Given the description of an element on the screen output the (x, y) to click on. 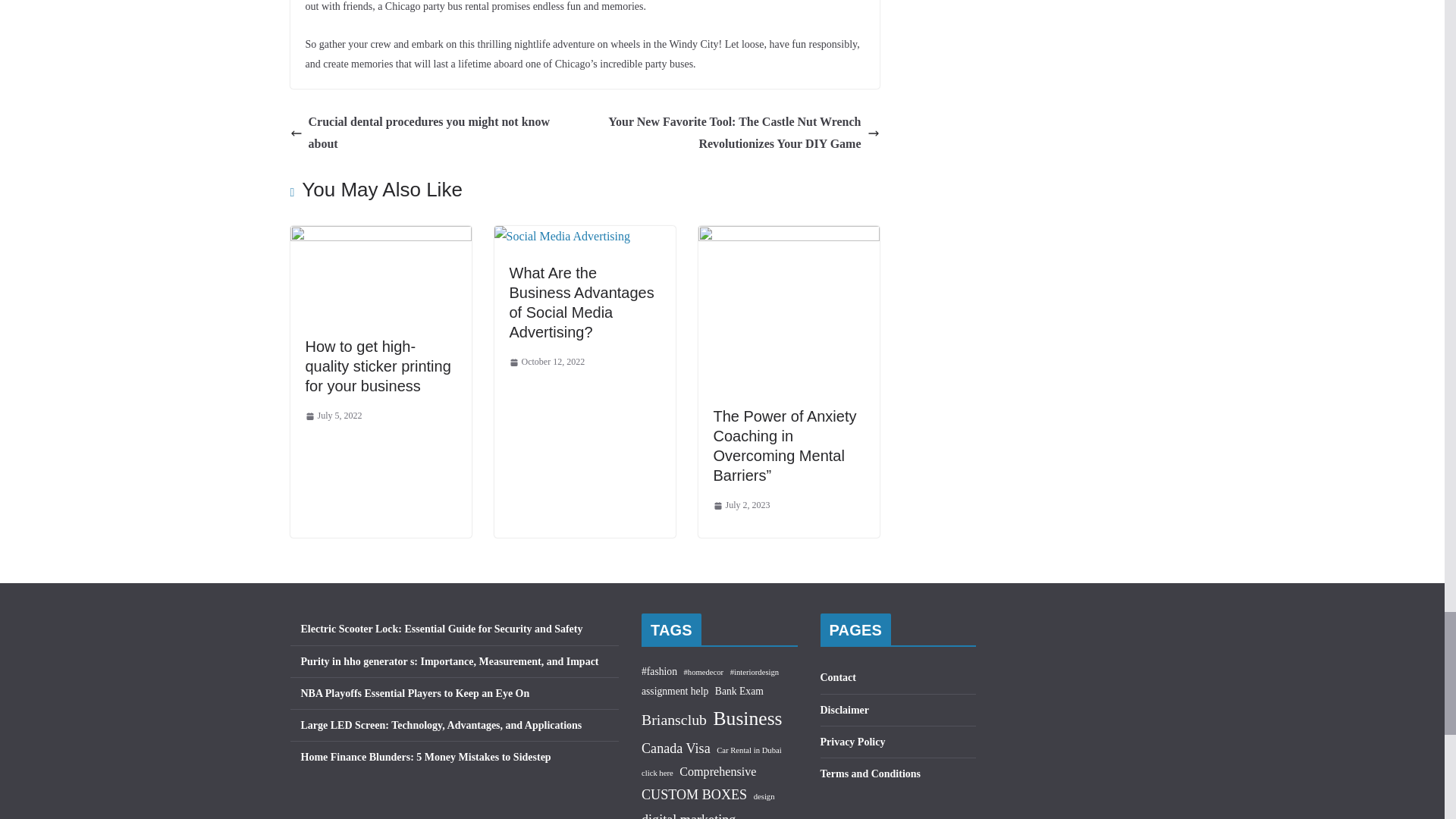
How to get high-quality sticker printing for your business (376, 365)
How to get high-quality sticker printing for your business (379, 236)
Crucial dental procedures you might not know about (432, 133)
How to get high-quality sticker printing for your business (376, 365)
July 5, 2022 (332, 416)
12:55 pm (332, 416)
8:48 am (547, 362)
